Given the description of an element on the screen output the (x, y) to click on. 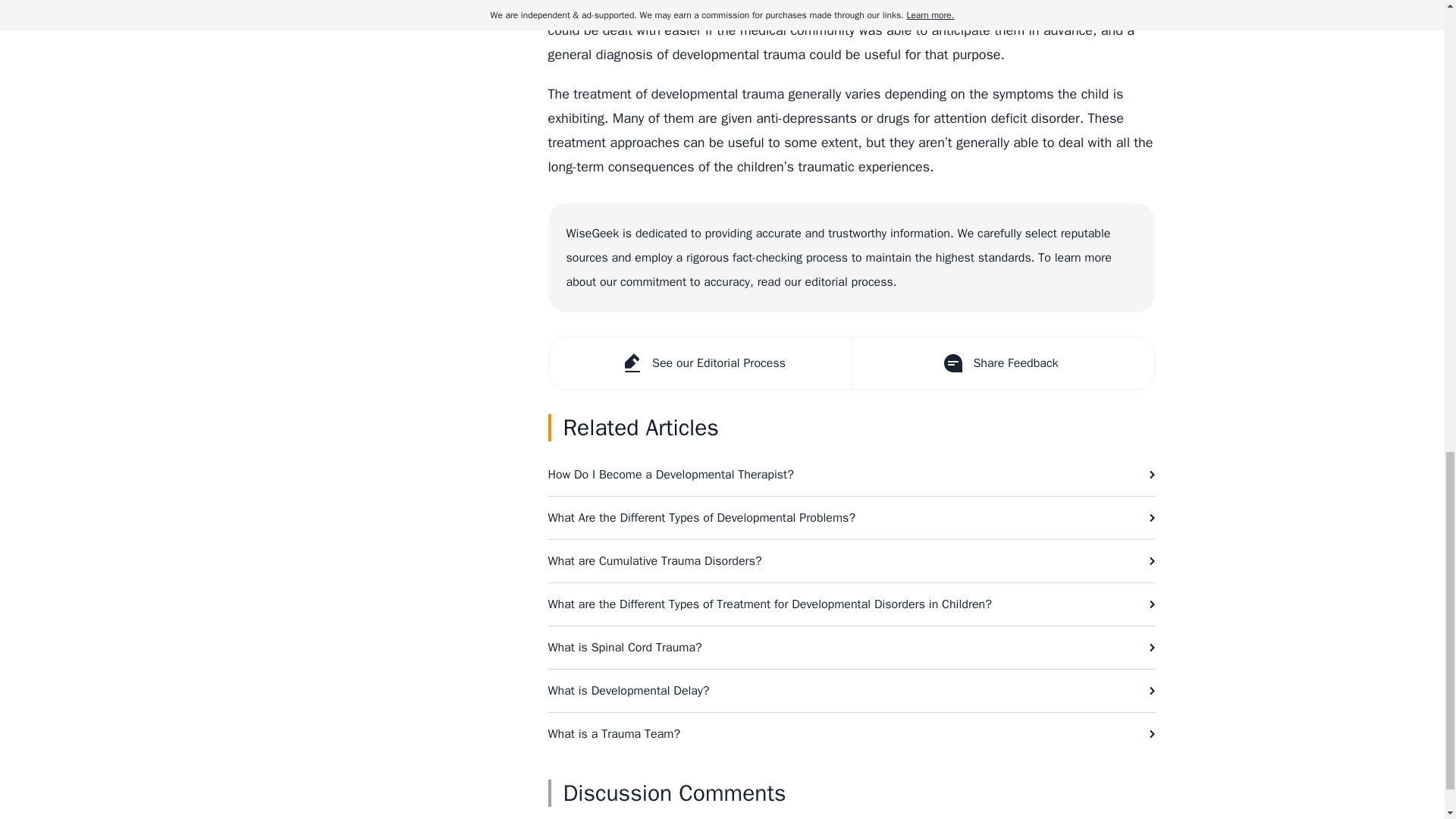
What Are the Different Types of Developmental Problems? (850, 517)
What are Cumulative Trauma Disorders? (850, 560)
Share Feedback (1001, 363)
What is Spinal Cord Trauma? (850, 647)
How Do I Become a Developmental Therapist? (850, 474)
What is Developmental Delay? (850, 690)
See our Editorial Process (699, 363)
What is a Trauma Team? (850, 733)
